Given the description of an element on the screen output the (x, y) to click on. 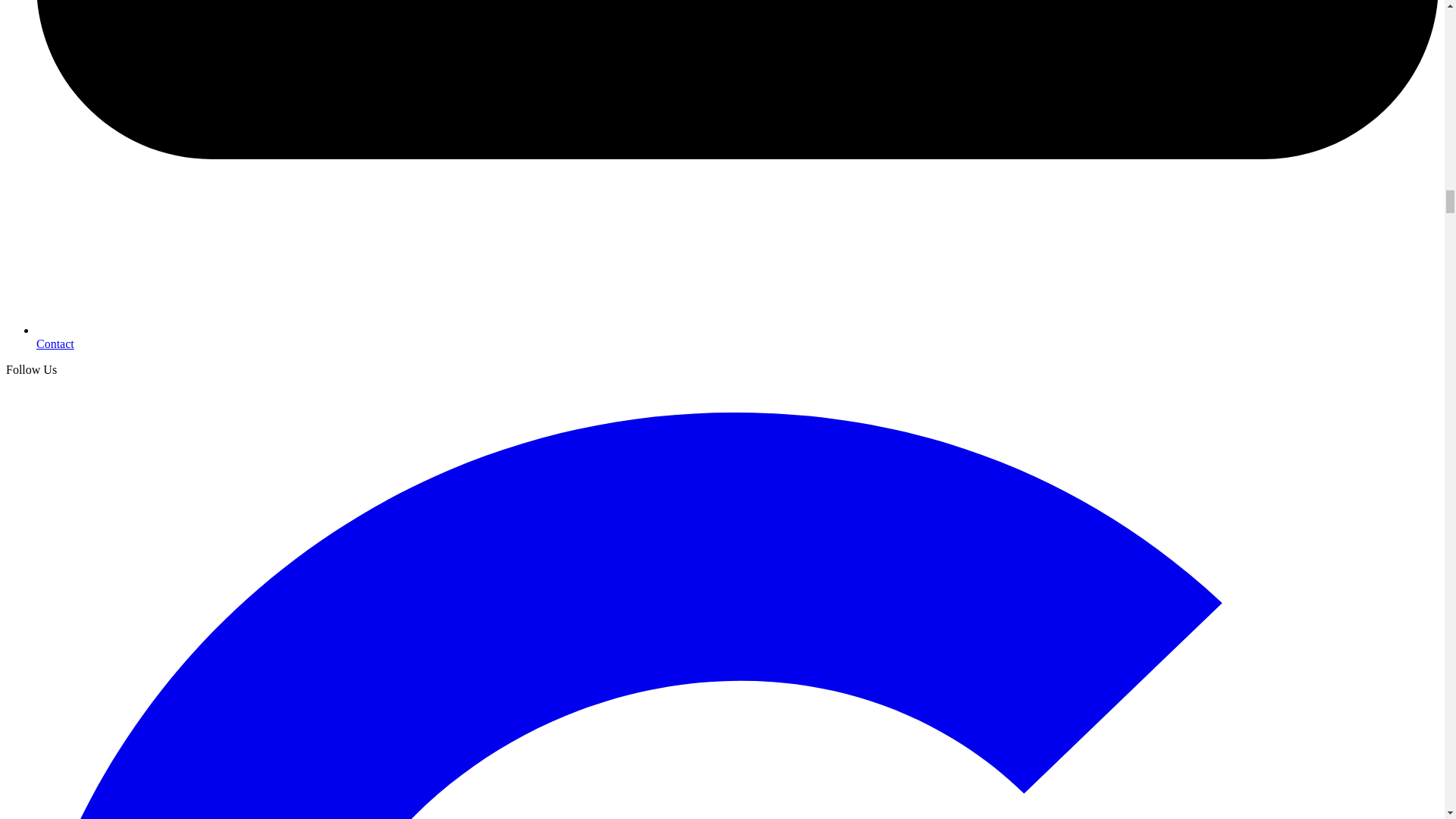
Contact (55, 343)
